Given the description of an element on the screen output the (x, y) to click on. 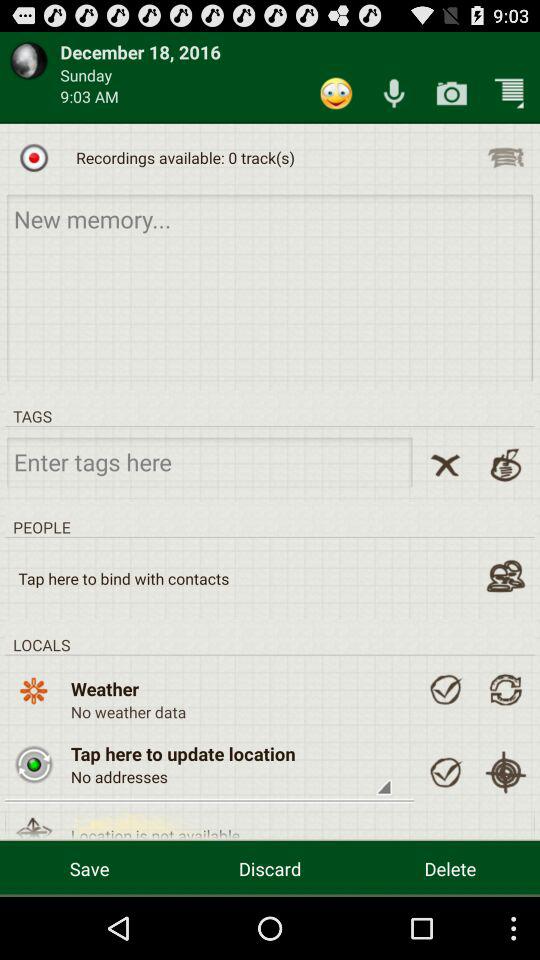
click te recording list (505, 157)
